Given the description of an element on the screen output the (x, y) to click on. 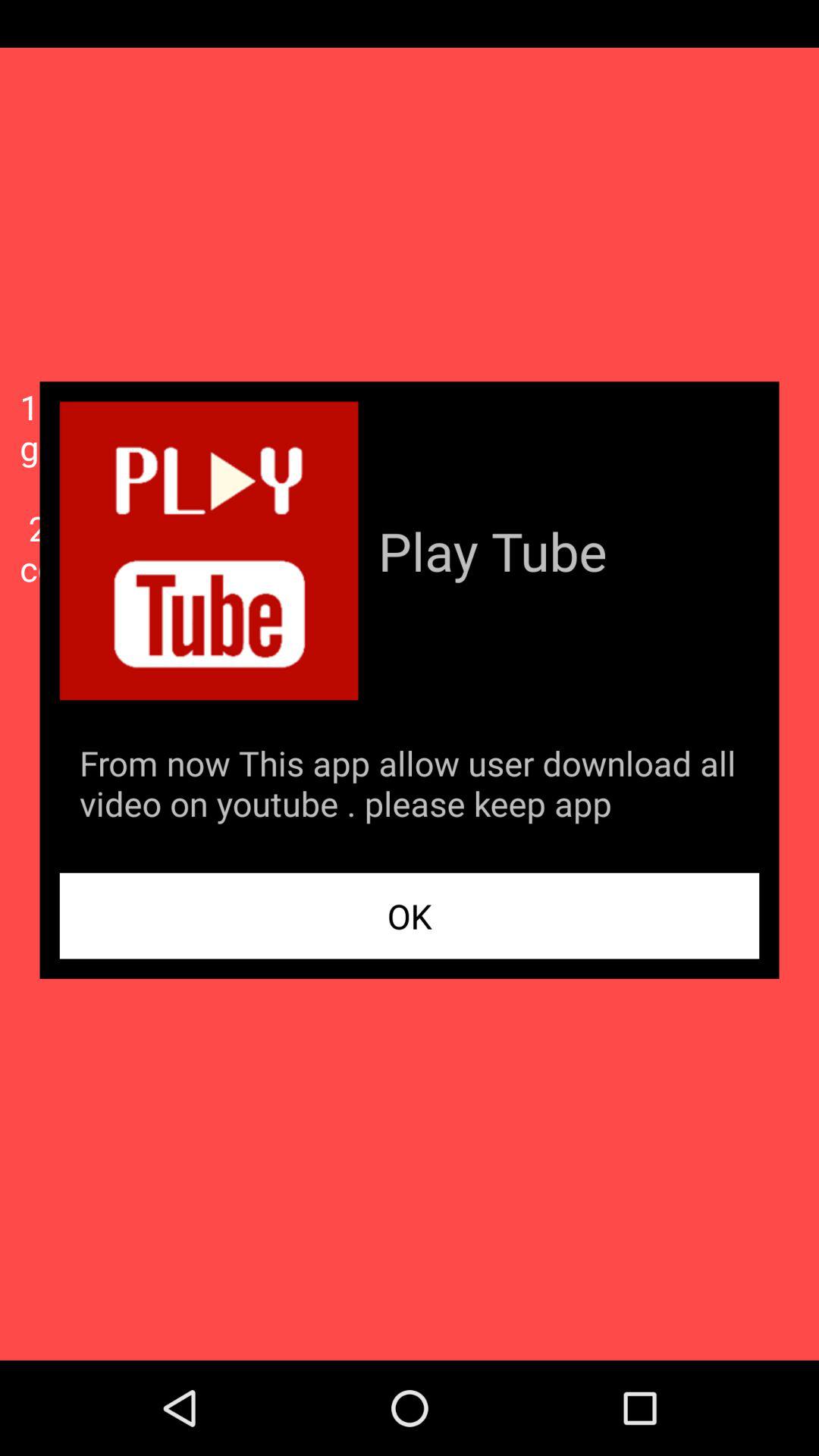
turn off the app below the from now this app (409, 915)
